Given the description of an element on the screen output the (x, y) to click on. 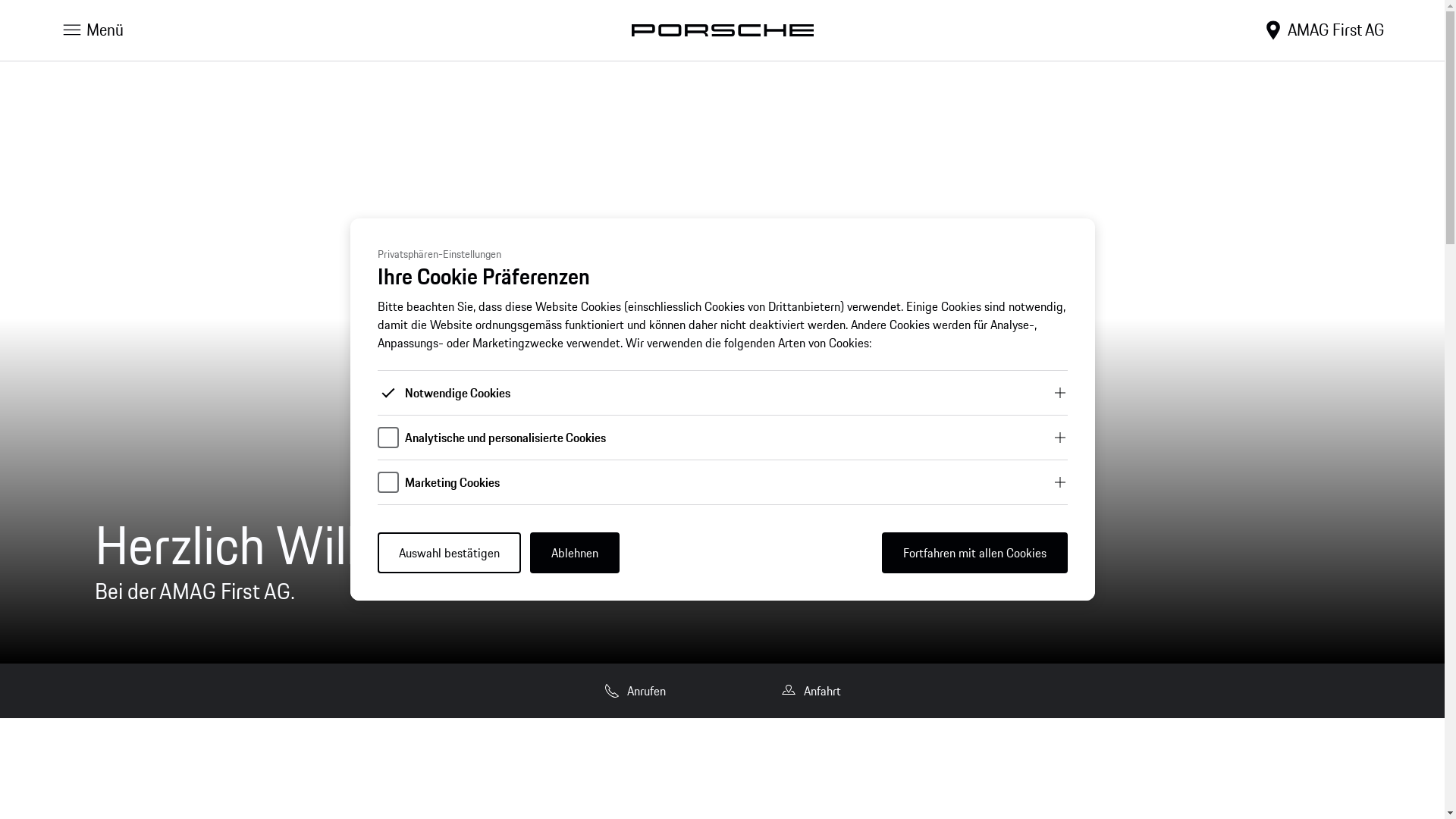
Ablehnen Element type: text (573, 552)
Anrufen Element type: text (633, 690)
Anfahrt Element type: text (809, 690)
Fortfahren mit allen Cookies Element type: text (973, 552)
